Given the description of an element on the screen output the (x, y) to click on. 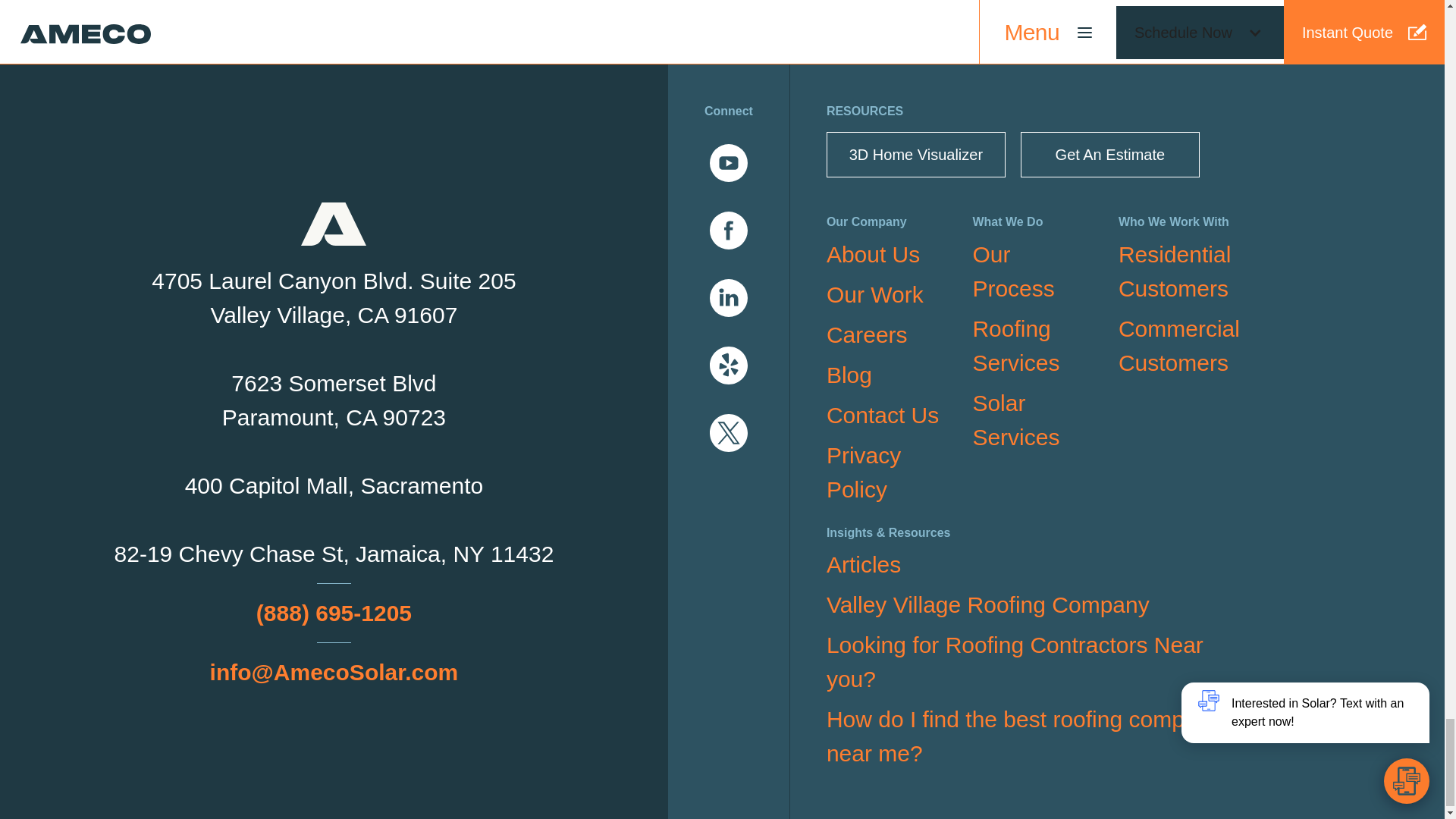
Get An Estimate (1109, 154)
3D Home Visualizer (916, 154)
